Given the description of an element on the screen output the (x, y) to click on. 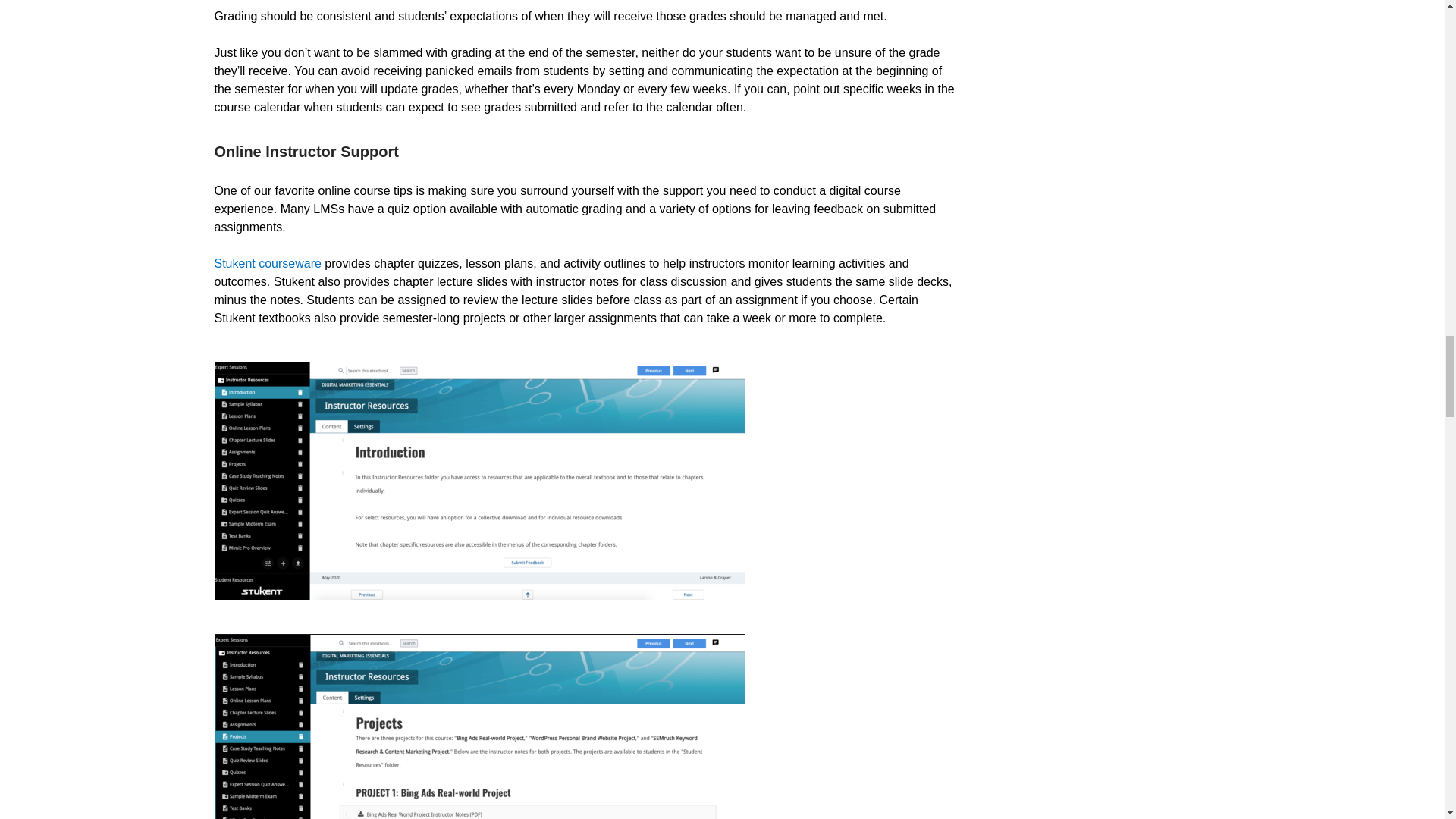
Stukent courseware (267, 263)
